Given the description of an element on the screen output the (x, y) to click on. 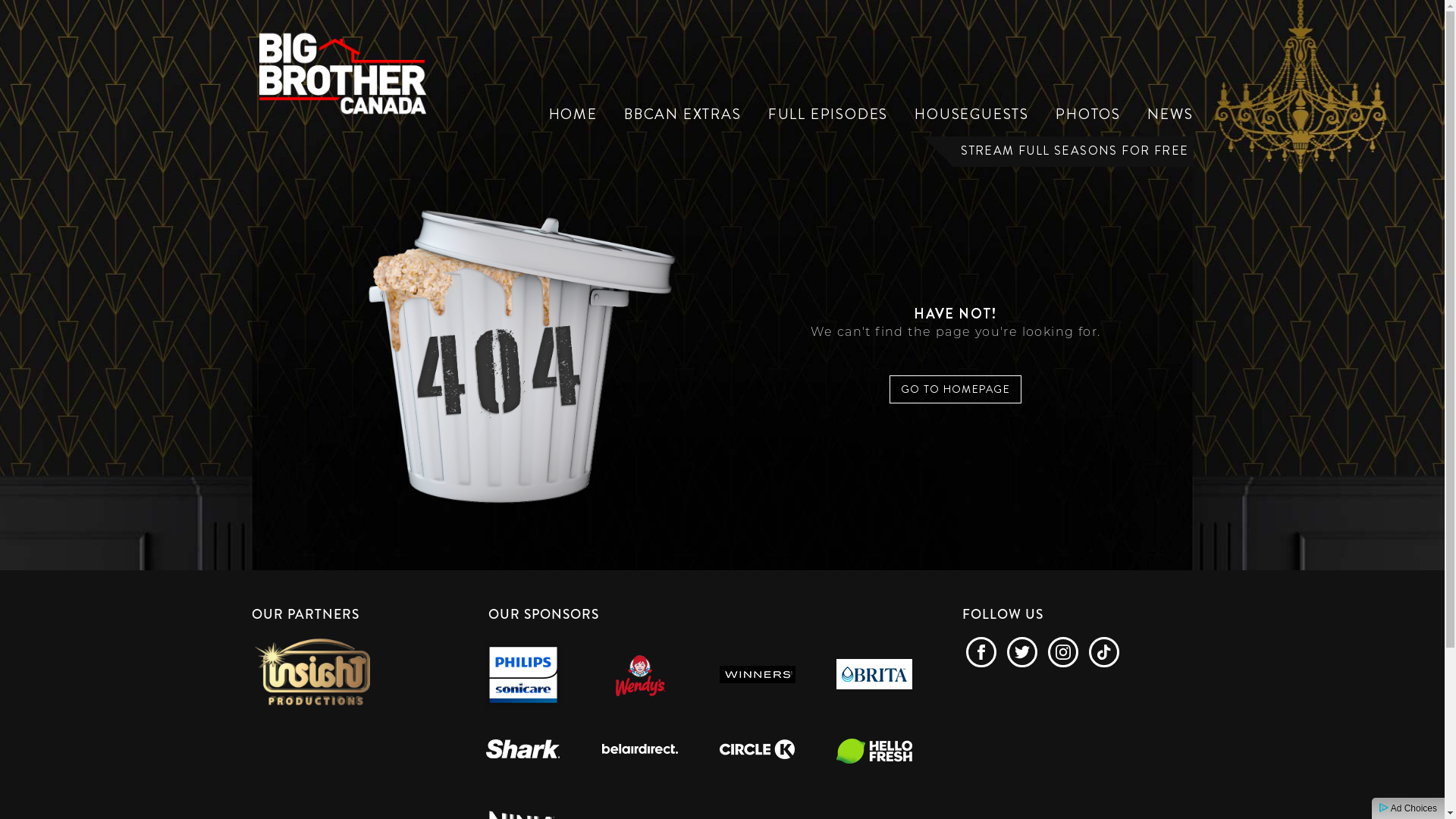
Visit us on Instagram Element type: text (1063, 652)
Insight Productions Element type: hover (312, 669)
PHOTOS Element type: text (1087, 114)
Visit us on Twitter Element type: text (1022, 652)
NEWS Element type: text (1169, 114)
FULL EPISODES Element type: text (828, 114)
Philips Element type: hover (523, 674)
Shark Element type: hover (523, 750)
Wendy's Element type: hover (639, 674)
HOUSEGUESTS Element type: text (971, 114)
WINNERS Element type: hover (756, 674)
HOME Element type: text (573, 114)
Ad Choices Element type: text (1408, 808)
Brita Element type: hover (874, 674)
GO TO HOMEPAGE Element type: text (955, 389)
BBCAN EXTRAS Element type: text (682, 114)
Big Brother Canada - Season 11 | BBCAN11 - Official Site Element type: hover (342, 69)
Hello Fresh Element type: hover (874, 750)
belairdirect Element type: hover (639, 750)
Circle K Element type: hover (756, 750)
Visit us on TikTok Element type: text (1103, 652)
Visit us on Facebook Element type: text (981, 652)
